Given the description of an element on the screen output the (x, y) to click on. 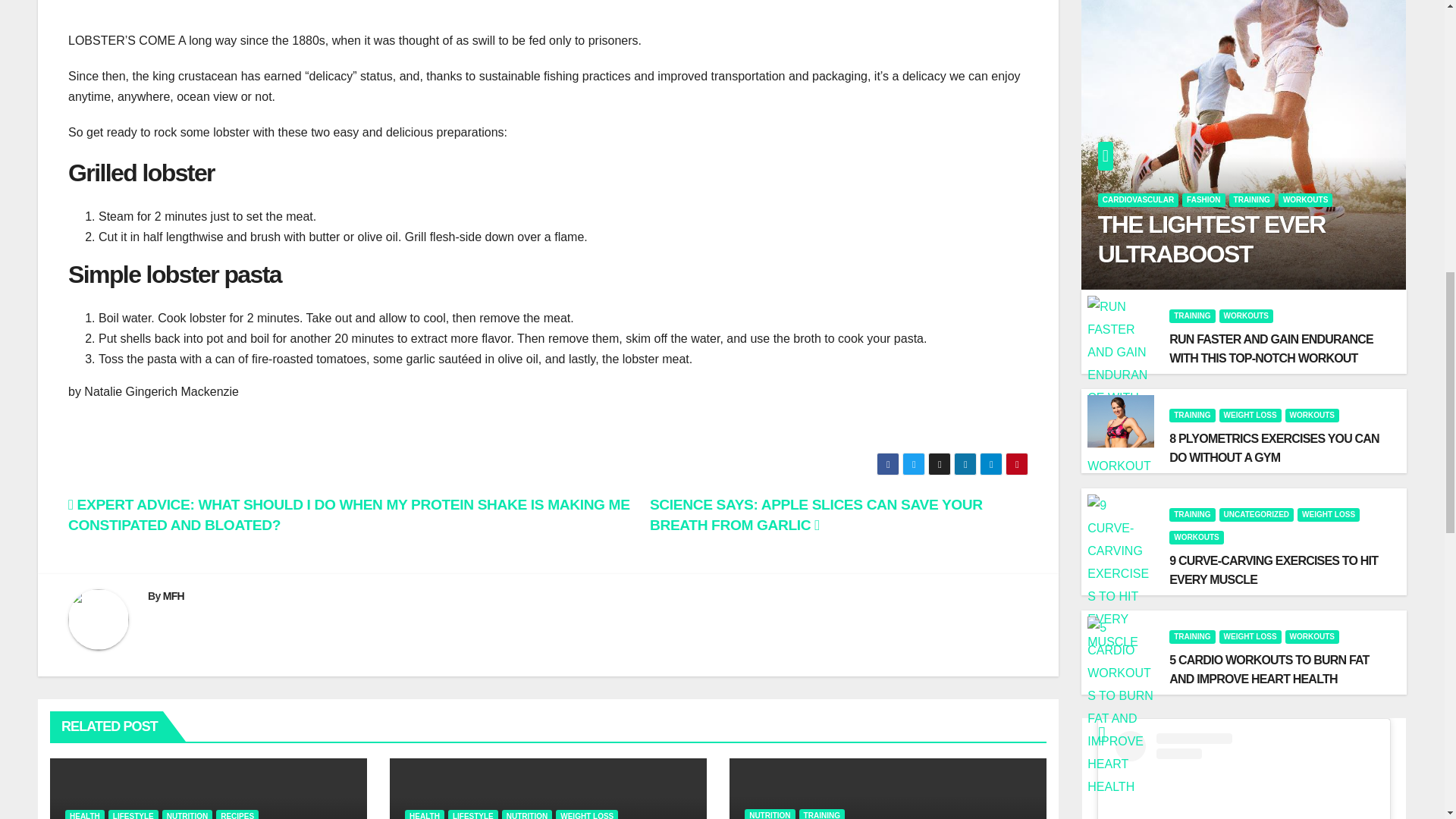
HEALTH (84, 814)
MFH (173, 595)
RECIPES (237, 814)
NUTRITION (186, 814)
LIFESTYLE (132, 814)
SCIENCE SAYS: APPLE SLICES CAN SAVE YOUR BREATH FROM GARLIC (815, 514)
